Given the description of an element on the screen output the (x, y) to click on. 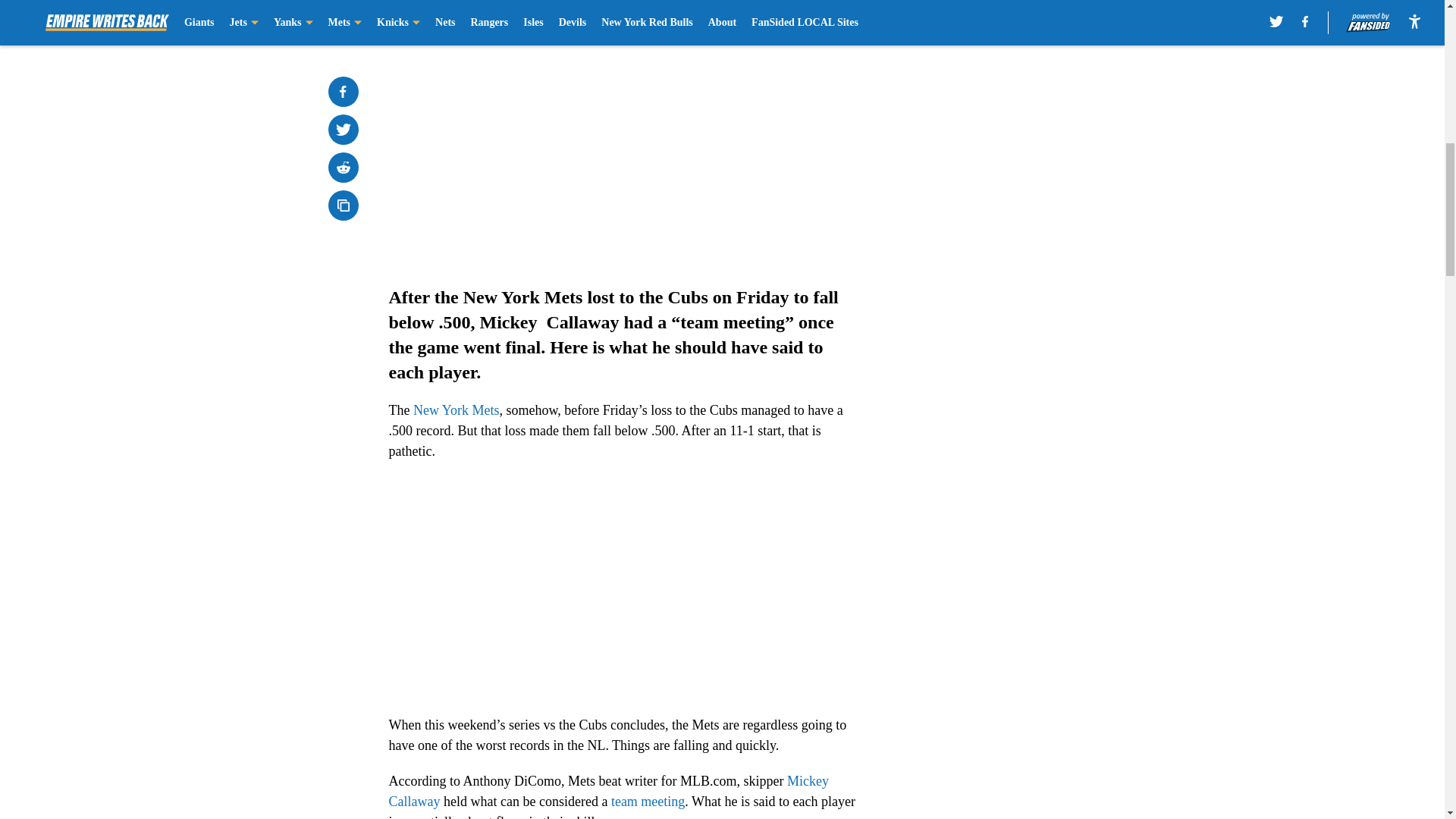
team meeting (647, 801)
Mickey Callaway (608, 791)
New York Mets (456, 409)
